Given the description of an element on the screen output the (x, y) to click on. 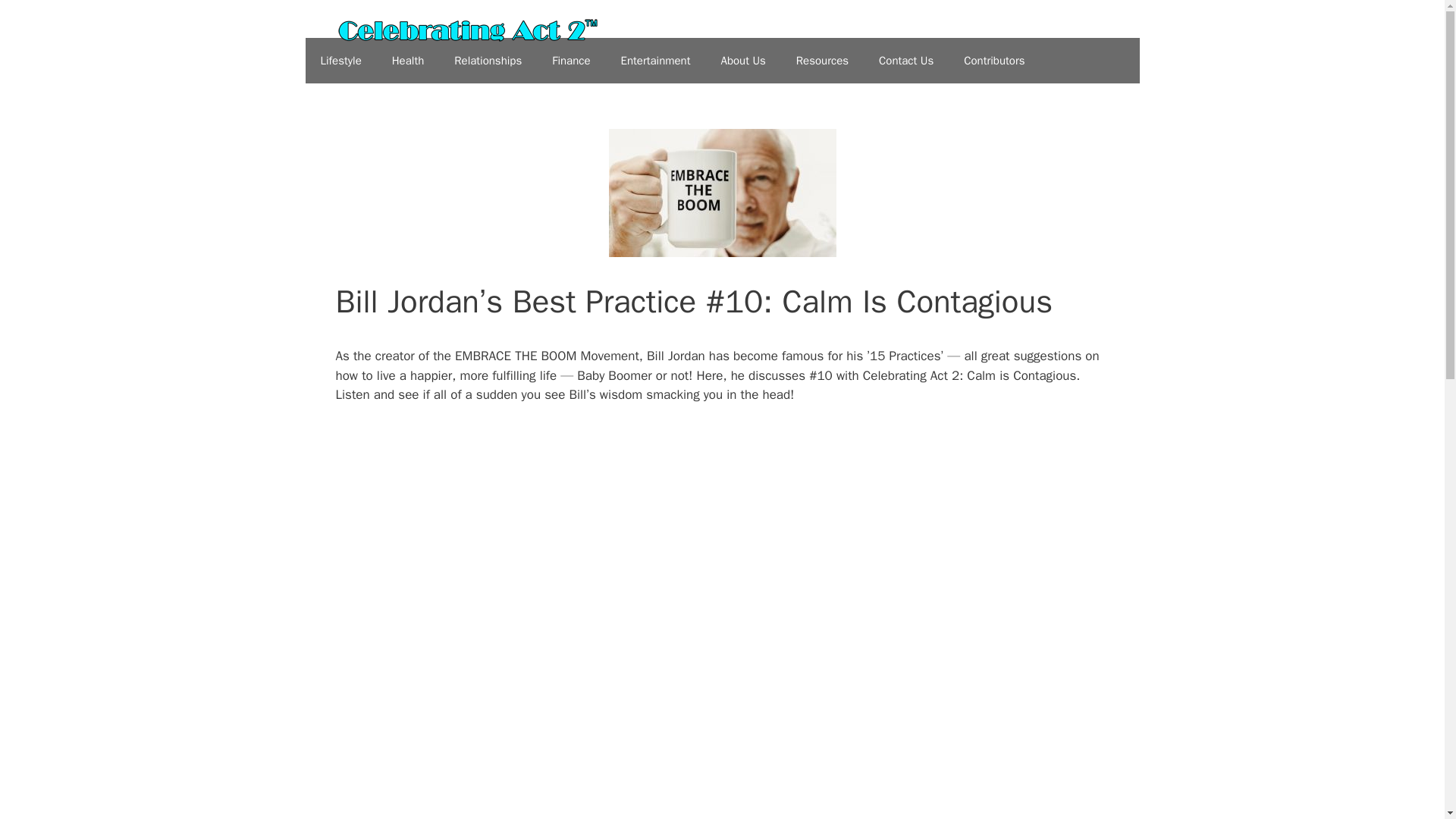
Resources (821, 60)
Health (408, 60)
Contact Us (906, 60)
Lifestyle (339, 60)
Entertainment (655, 60)
About Us (742, 60)
Finance (571, 60)
Relationships (488, 60)
Contributors (994, 60)
